Given the description of an element on the screen output the (x, y) to click on. 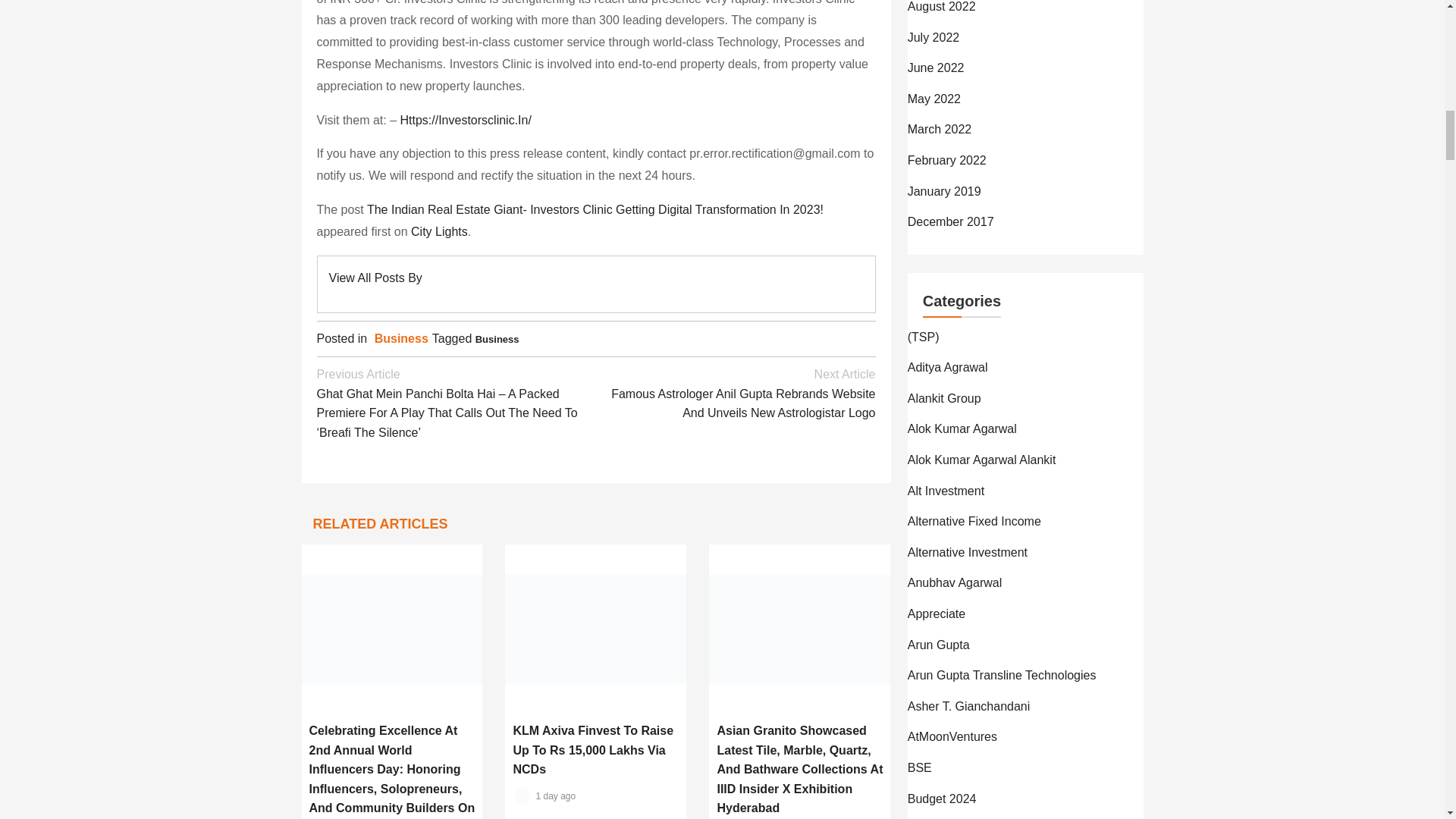
City Lights (438, 231)
Business (497, 338)
View All Posts By (375, 277)
Business (401, 338)
